Given the description of an element on the screen output the (x, y) to click on. 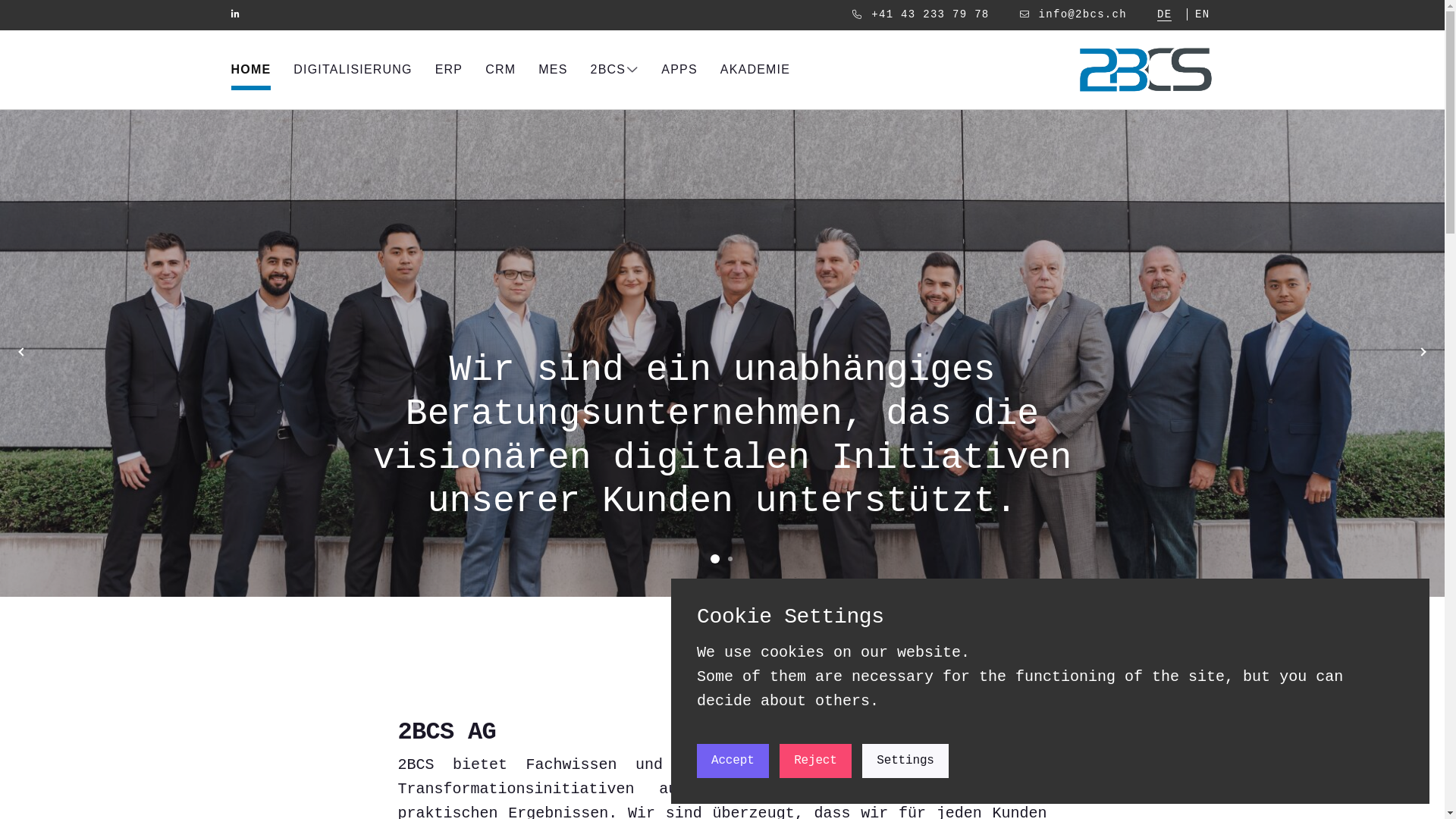
ERP Element type: text (449, 71)
Reject Element type: text (815, 760)
CRM Element type: text (500, 71)
EN Element type: text (1202, 14)
DE Element type: text (1164, 14)
Settings Element type: text (904, 760)
AKADEMIE Element type: text (755, 71)
MES Element type: text (552, 71)
+41 43 233 79 78 Element type: text (929, 14)
2BCS Element type: text (614, 71)
DIGITALISIERUNG Element type: text (352, 71)
info@2bcs.ch Element type: text (1082, 14)
HOME Element type: text (250, 71)
APPS Element type: text (679, 71)
Accept Element type: text (732, 760)
